Given the description of an element on the screen output the (x, y) to click on. 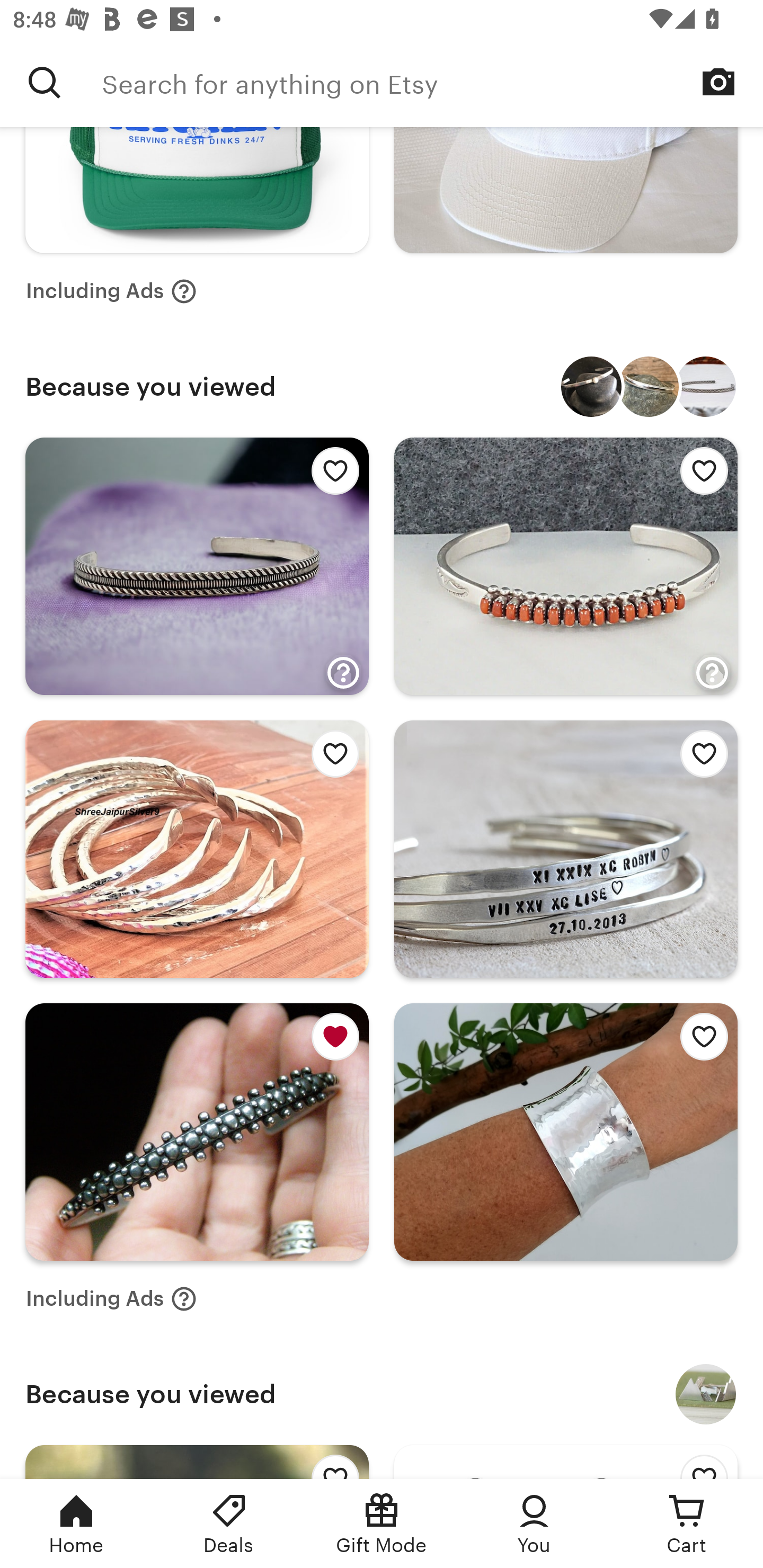
Search for anything on Etsy (44, 82)
Search by image (718, 81)
Search for anything on Etsy (432, 82)
Including Ads (111, 290)
Including Ads (111, 1298)
Deals (228, 1523)
Gift Mode (381, 1523)
You (533, 1523)
Cart (686, 1523)
